Given the description of an element on the screen output the (x, y) to click on. 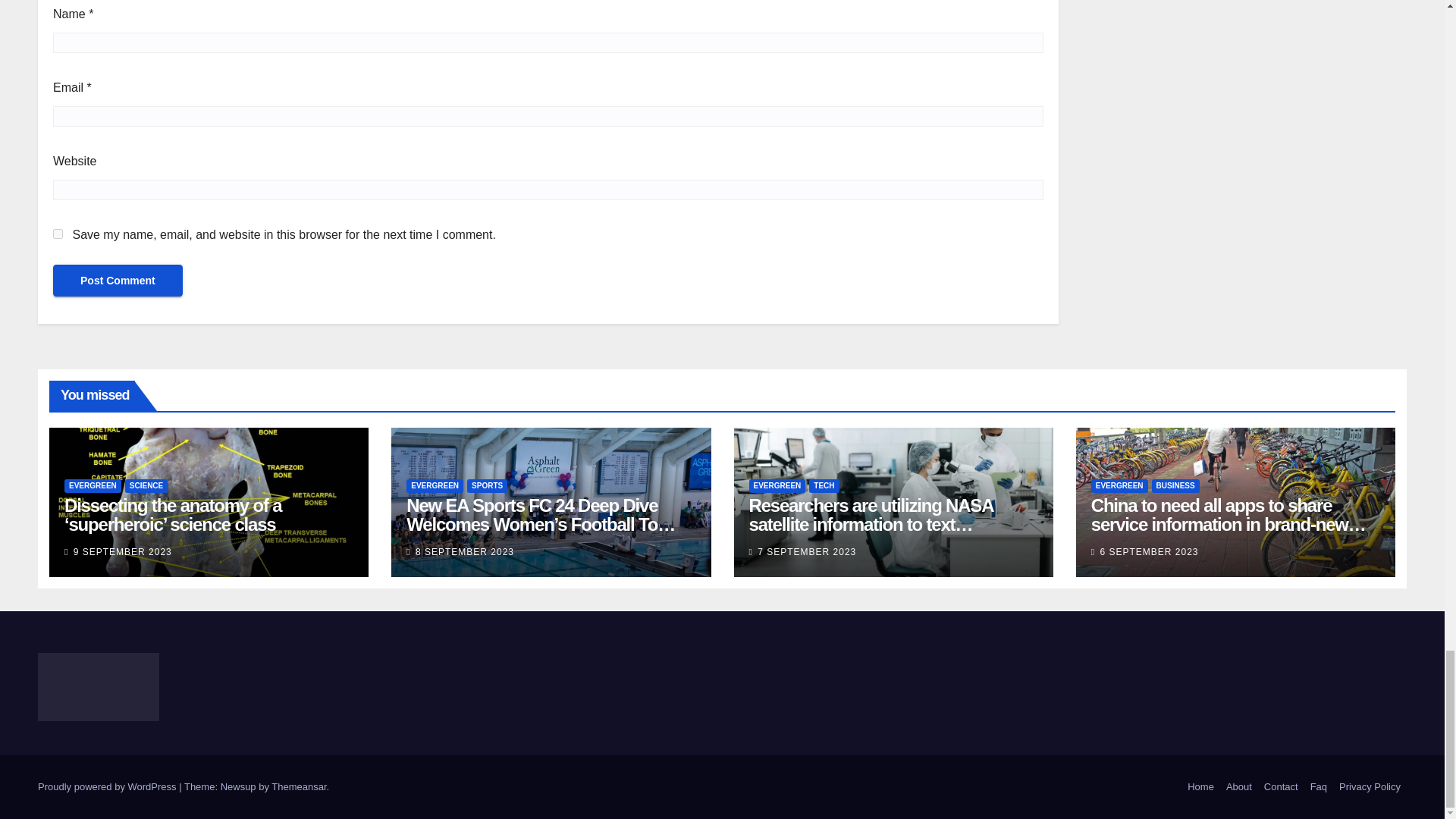
Post Comment (117, 280)
yes (57, 234)
